Given the description of an element on the screen output the (x, y) to click on. 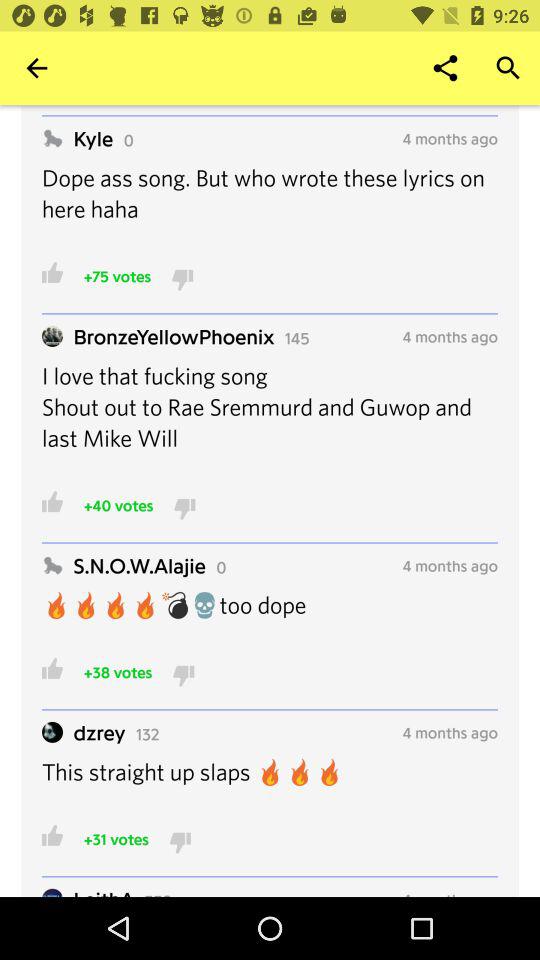
flip until the +38 votes (117, 671)
